Given the description of an element on the screen output the (x, y) to click on. 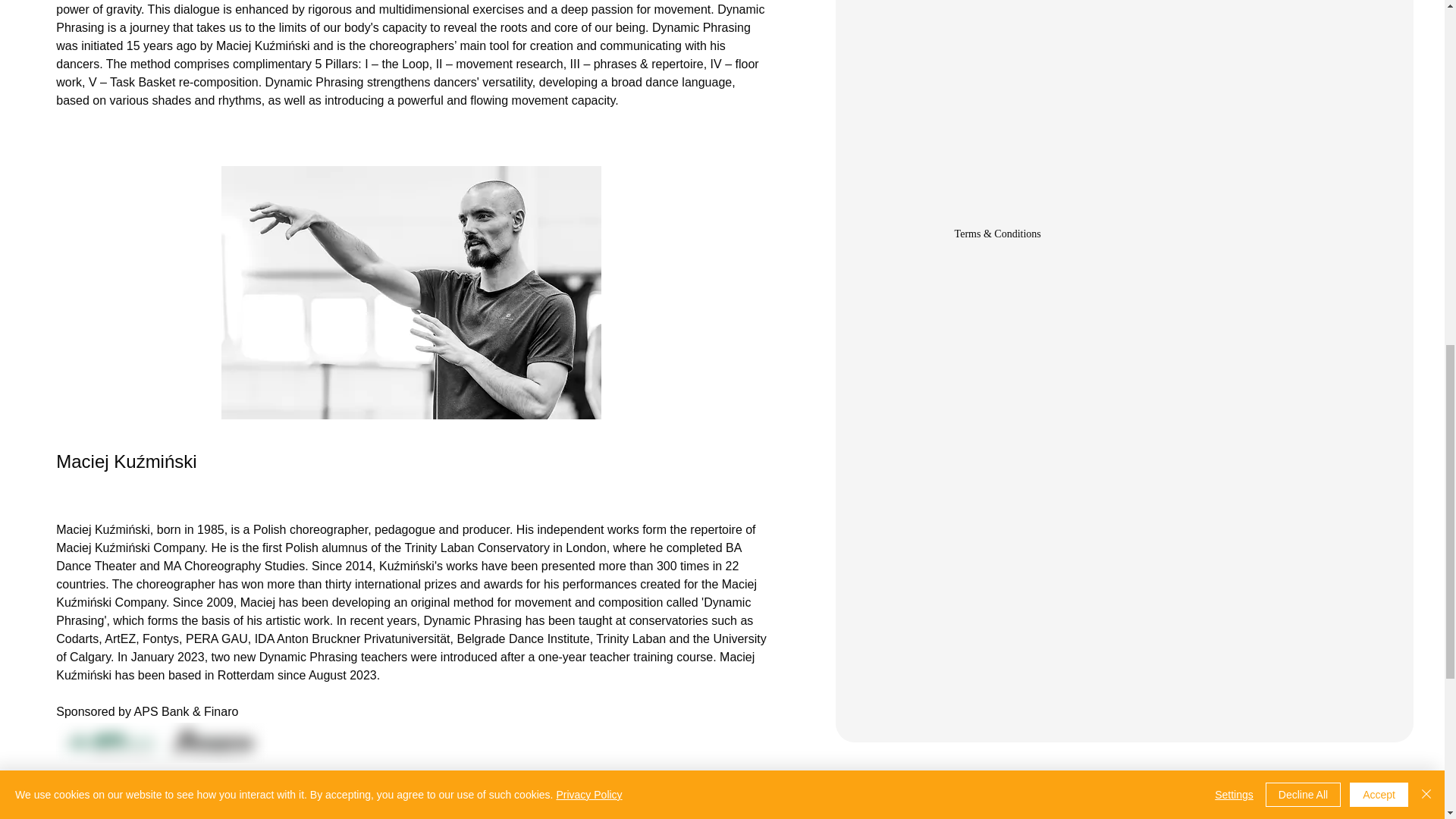
Go Back (116, 809)
